Given the description of an element on the screen output the (x, y) to click on. 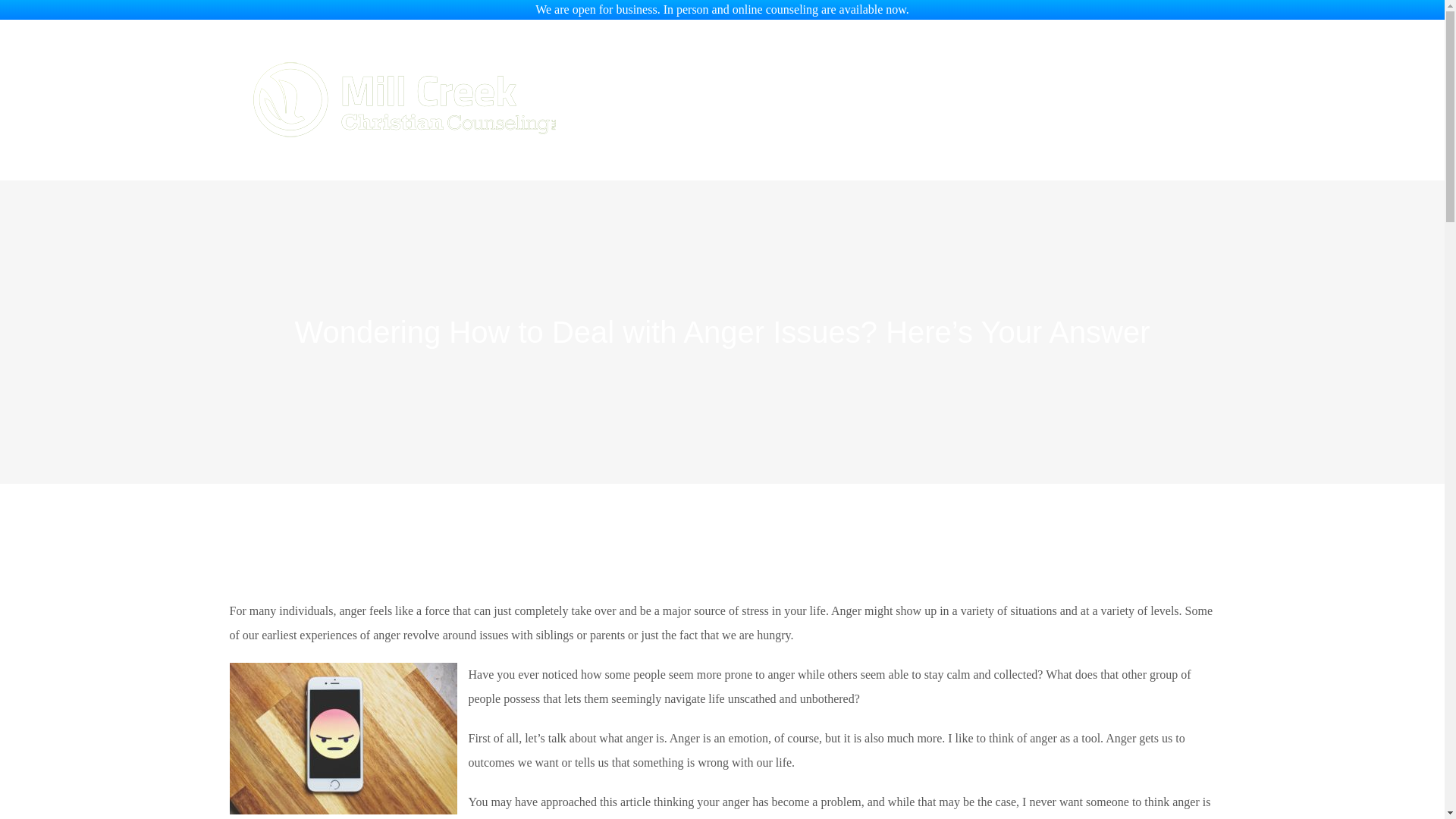
Counselor Directory (760, 71)
